Given the description of an element on the screen output the (x, y) to click on. 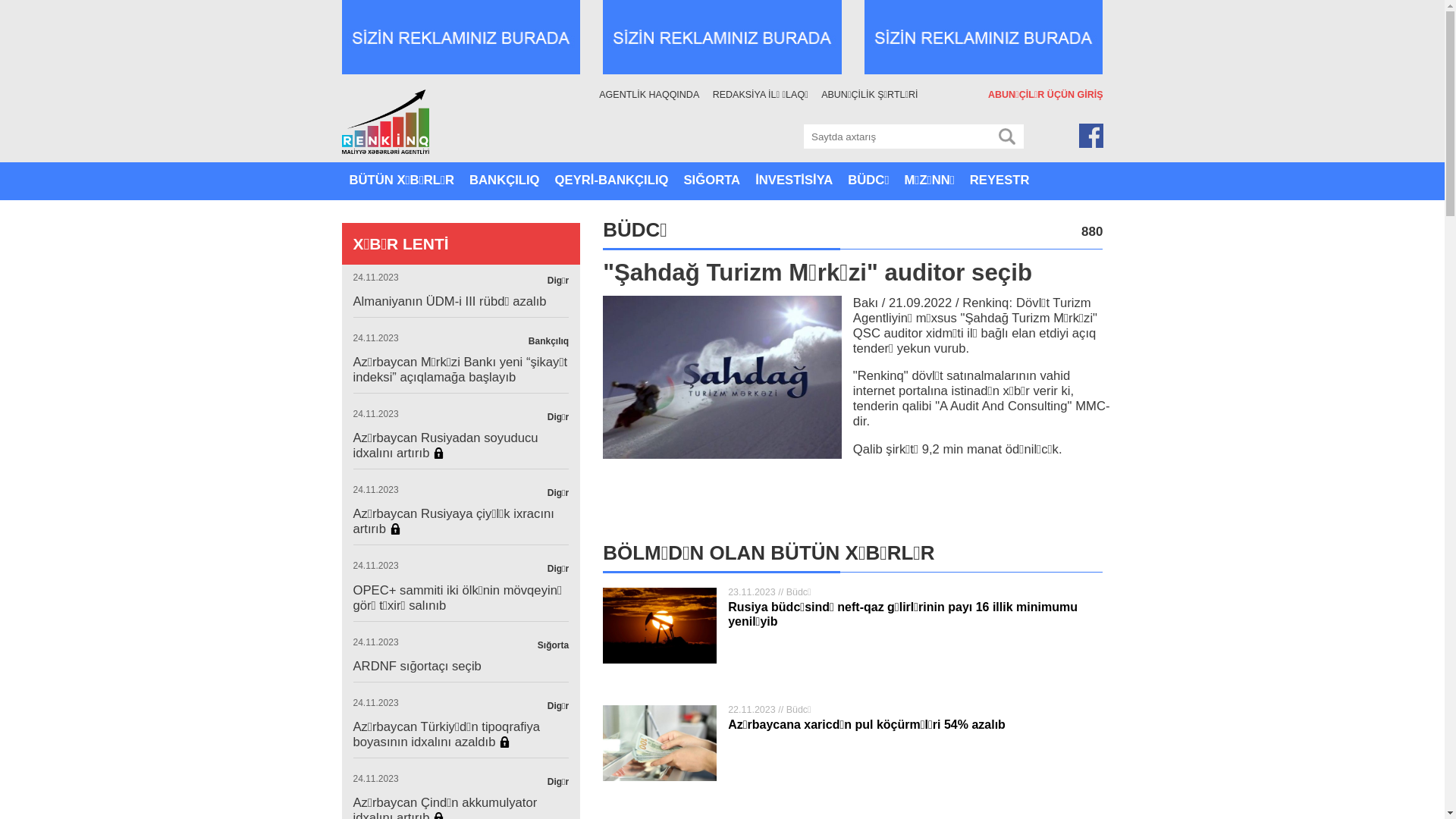
AGENTLIK HAQQINDA Element type: text (654, 95)
REYESTR Element type: text (999, 181)
